Given the description of an element on the screen output the (x, y) to click on. 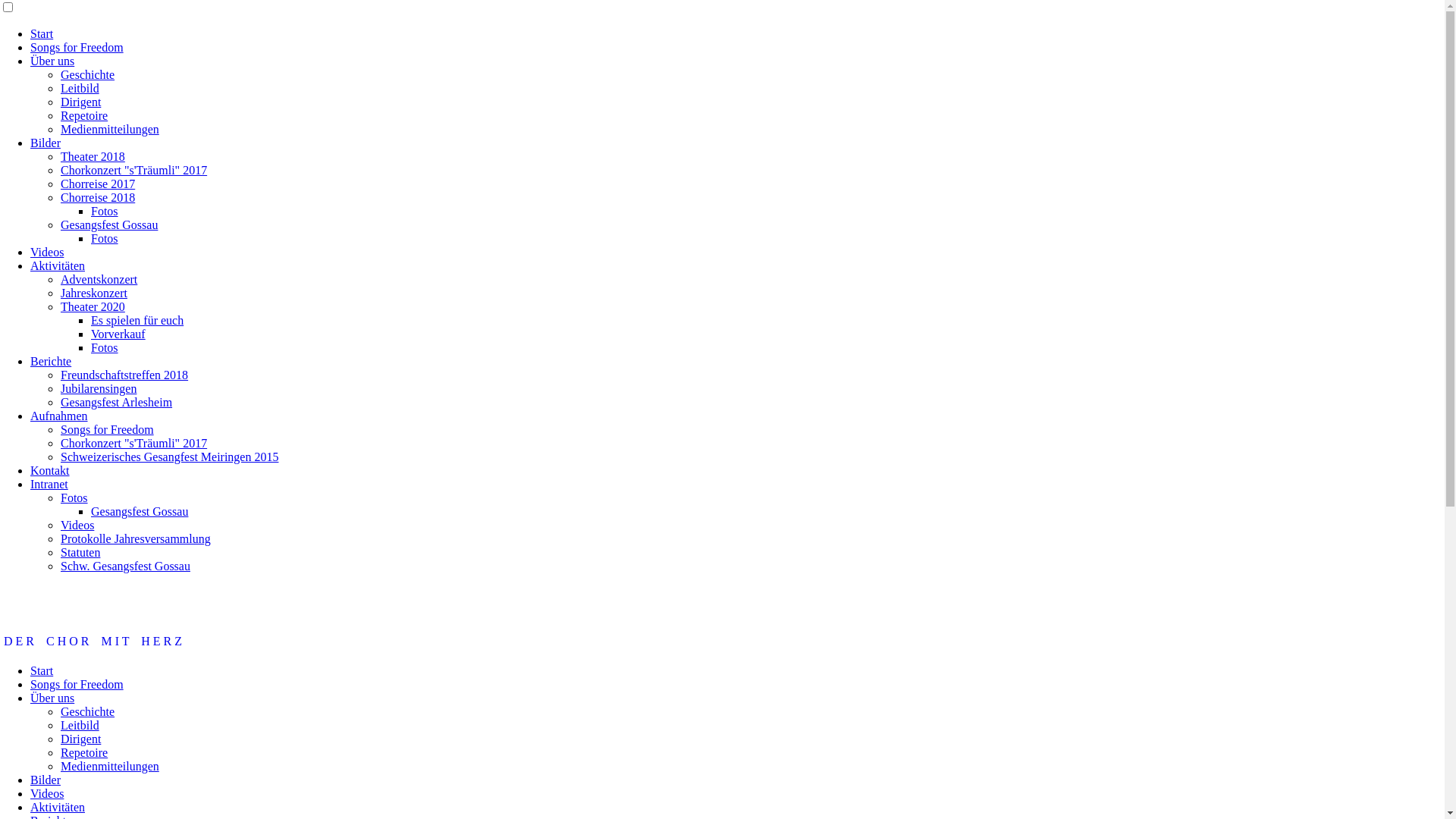
Geschichte Element type: text (87, 74)
Medienmitteilungen Element type: text (109, 765)
Dirigent Element type: text (80, 101)
Geschichte Element type: text (87, 711)
Songs for Freedom Element type: text (76, 683)
Start Element type: text (41, 33)
Medienmitteilungen Element type: text (109, 128)
Repetoire Element type: text (83, 752)
Repetoire Element type: text (83, 115)
Jubilarensingen Element type: text (98, 388)
Adventskonzert Element type: text (98, 279)
Schweizerisches Gesangfest Meiringen 2015 Element type: text (169, 456)
Start Element type: text (41, 670)
Songs for Freedom Element type: text (76, 46)
Fotos Element type: text (73, 497)
Vorverkauf Element type: text (118, 333)
Schw. Gesangsfest Gossau Element type: text (125, 565)
Videos Element type: text (46, 793)
Protokolle Jahresversammlung Element type: text (135, 538)
Chorreise 2017 Element type: text (97, 183)
Theater 2018 Element type: text (92, 156)
Bilder Element type: text (45, 142)
Kontakt Element type: text (49, 470)
Leitbild Element type: text (79, 87)
Intranet Element type: text (49, 483)
Theater 2020 Element type: text (92, 306)
Dirigent Element type: text (80, 738)
Statuten Element type: text (80, 552)
Leitbild Element type: text (79, 724)
Fotos Element type: text (104, 238)
Bilder Element type: text (45, 779)
D E R    C H O R    M I T    H E R Z Element type: text (92, 640)
Gesangsfest Gossau Element type: text (108, 224)
Jahreskonzert Element type: text (93, 292)
Freundschaftstreffen 2018 Element type: text (124, 374)
Videos Element type: text (46, 251)
Videos Element type: text (77, 524)
Songs for Freedom Element type: text (106, 429)
Chorreise 2018 Element type: text (97, 197)
Gesangsfest Gossau Element type: text (139, 511)
Fotos Element type: text (104, 347)
Gesangsfest Arlesheim Element type: text (116, 401)
Berichte Element type: text (50, 360)
Aufnahmen Element type: text (58, 415)
Fotos Element type: text (104, 210)
